Given the description of an element on the screen output the (x, y) to click on. 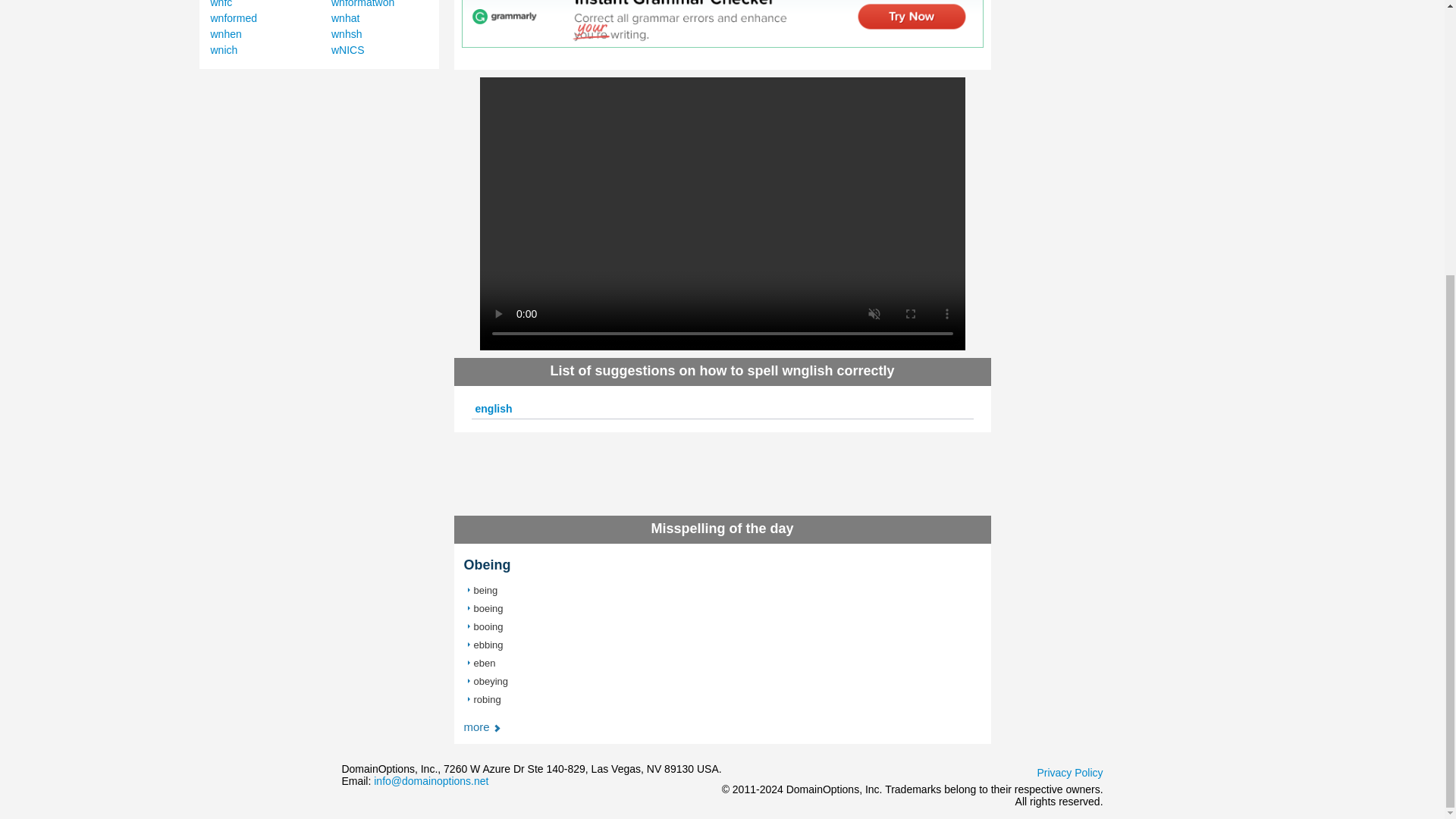
wnich (224, 50)
wnformatwon (362, 4)
wnhen (226, 33)
wnformatwon (362, 4)
wnhsh (346, 33)
wNICS (348, 50)
wnformed (234, 18)
wnhat (345, 18)
wnfc (221, 4)
wnformed (234, 18)
wnfc (221, 4)
